Given the description of an element on the screen output the (x, y) to click on. 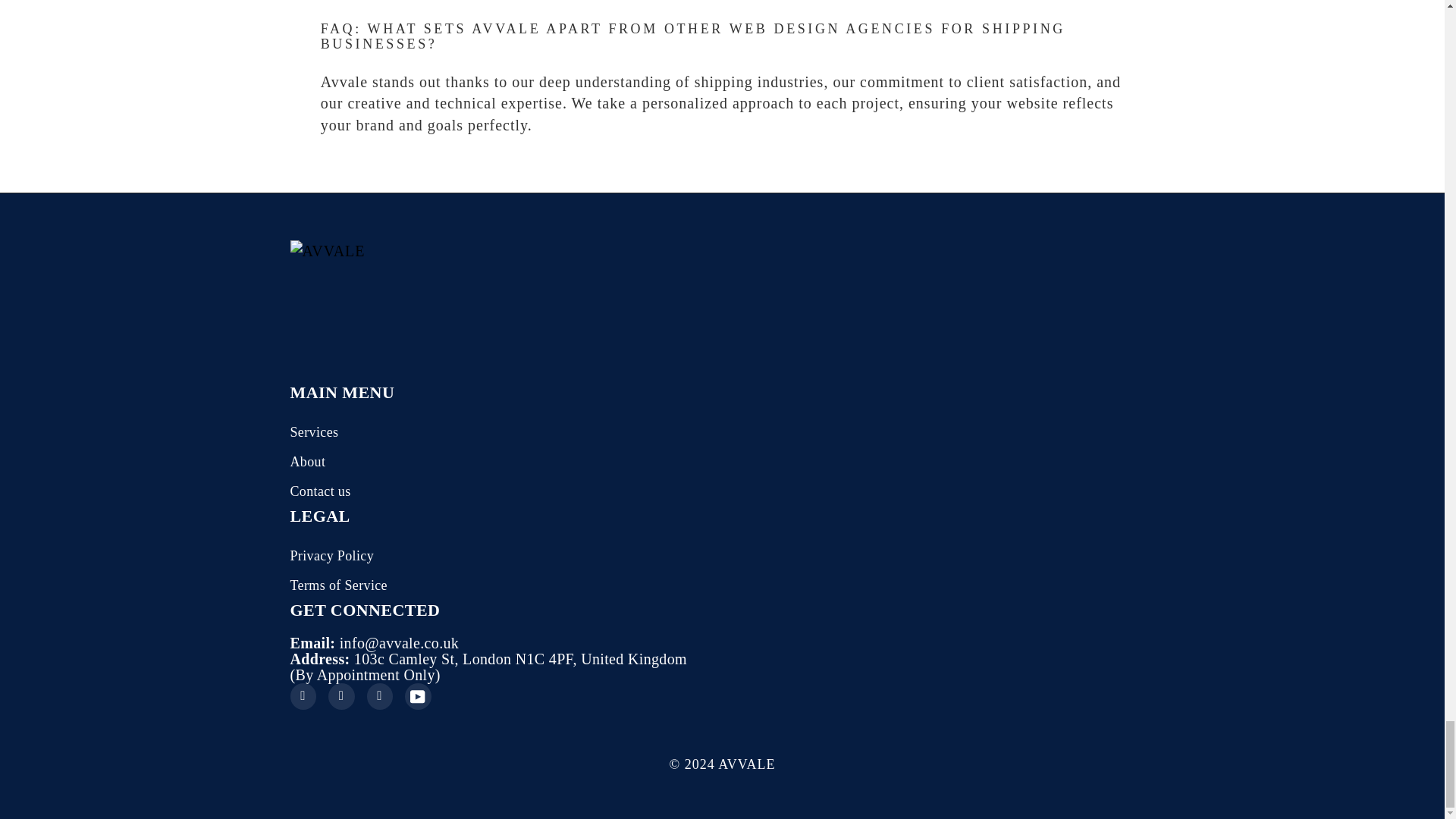
AVVALE on LinkedIn (379, 696)
AVVALE on Instagram (342, 696)
AVVALE on YouTube (417, 696)
